Given the description of an element on the screen output the (x, y) to click on. 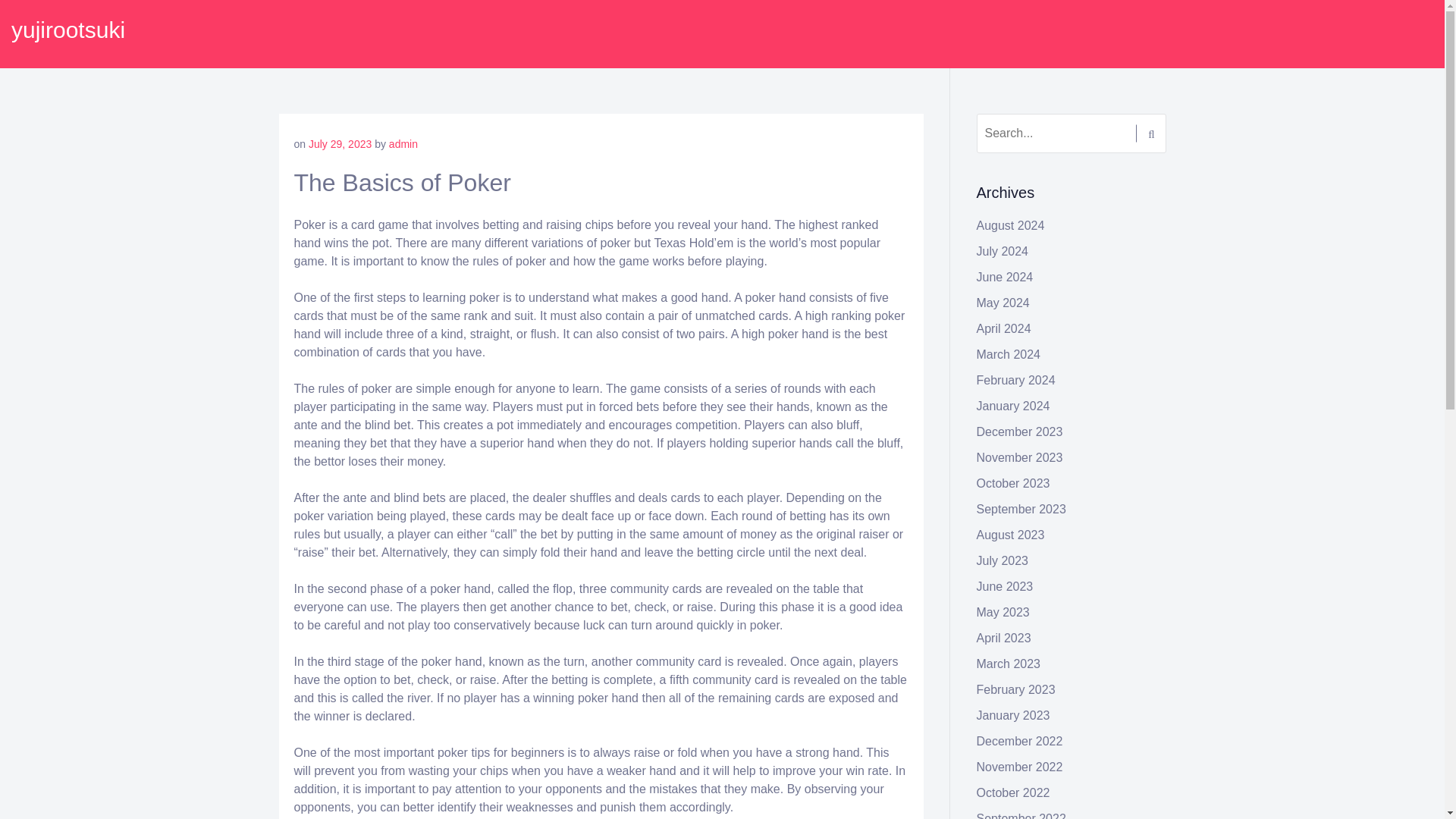
November 2023 (1019, 457)
admin (402, 143)
March 2023 (1008, 663)
May 2024 (1002, 302)
November 2022 (1019, 766)
September 2023 (1020, 508)
December 2022 (1019, 740)
July 29, 2023 (339, 143)
June 2024 (1004, 277)
September 2022 (1020, 815)
August 2023 (1010, 534)
October 2023 (1012, 482)
February 2023 (1015, 689)
July 2023 (1002, 560)
January 2024 (1012, 405)
